Given the description of an element on the screen output the (x, y) to click on. 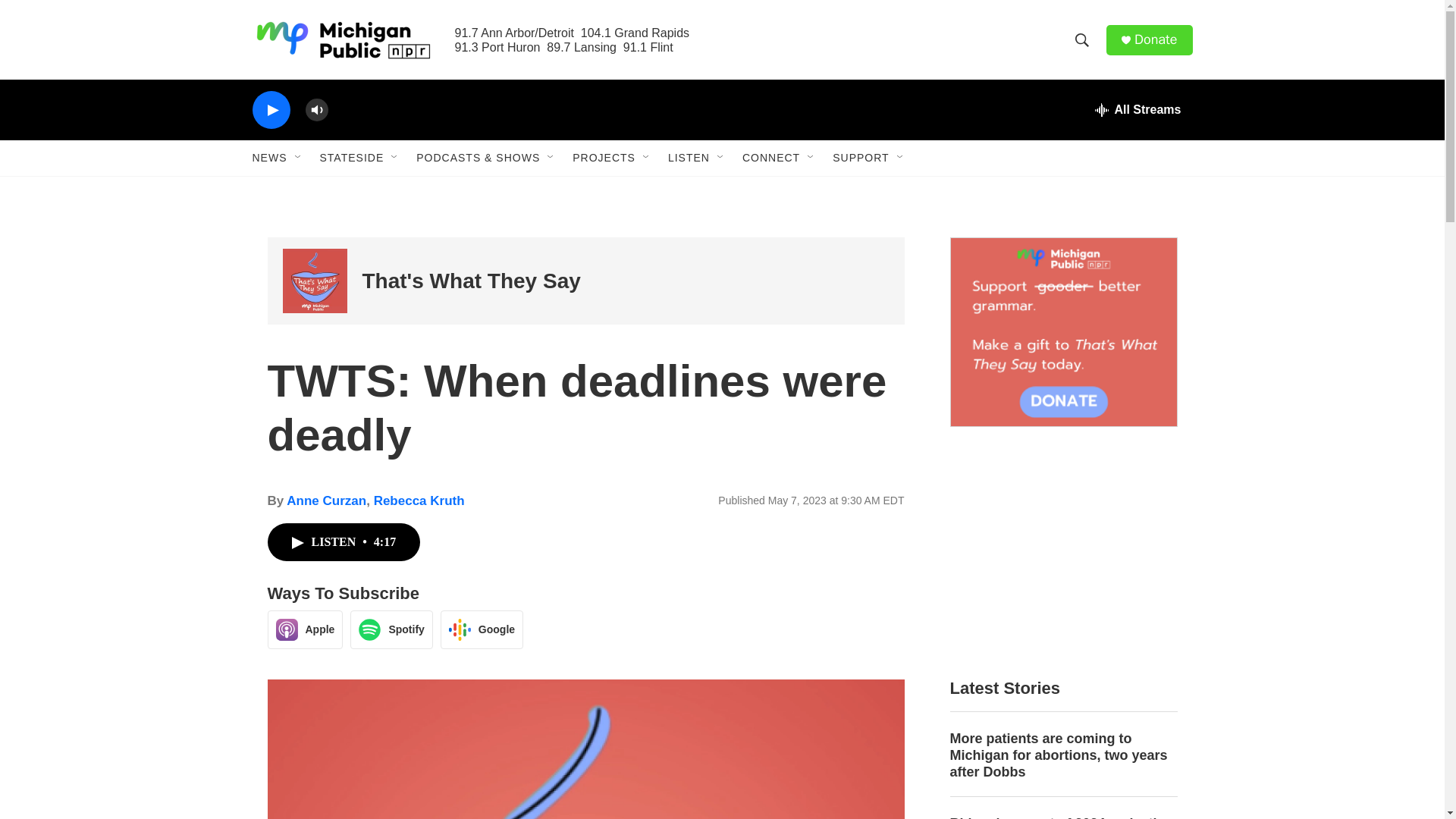
3rd party ad content (1062, 552)
